Given the description of an element on the screen output the (x, y) to click on. 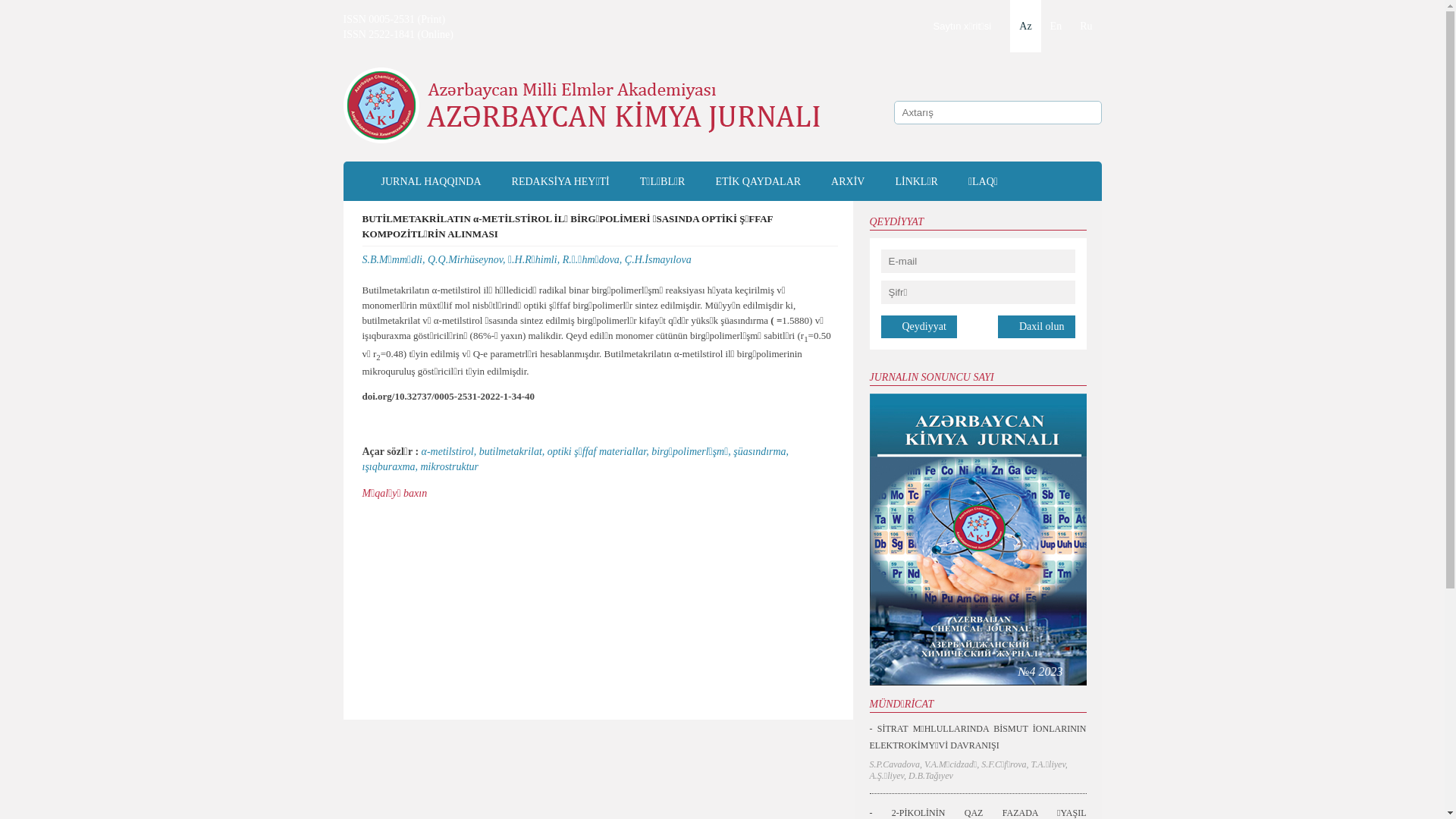
Qeydiyyat Element type: text (919, 326)
Az Element type: text (1025, 26)
En Element type: text (1056, 26)
JURNAL HAQQINDA Element type: text (430, 184)
Daxil olun Element type: text (1036, 326)
Ru Element type: text (1085, 26)
